Given the description of an element on the screen output the (x, y) to click on. 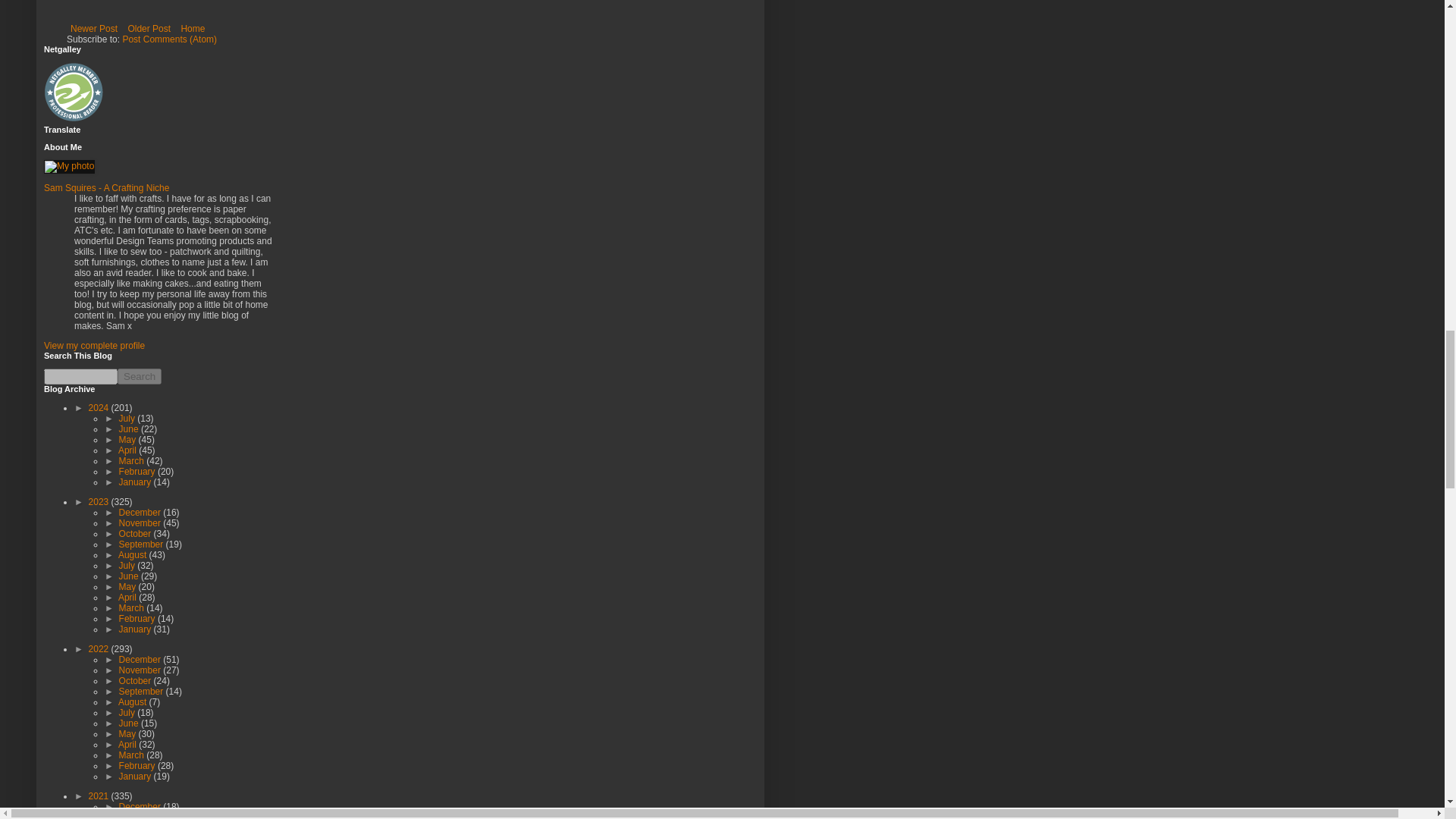
Newer Post (93, 28)
Search (139, 376)
search (139, 376)
Older Post (148, 28)
Professional Reader (73, 92)
Search (139, 376)
search (80, 376)
